Given the description of an element on the screen output the (x, y) to click on. 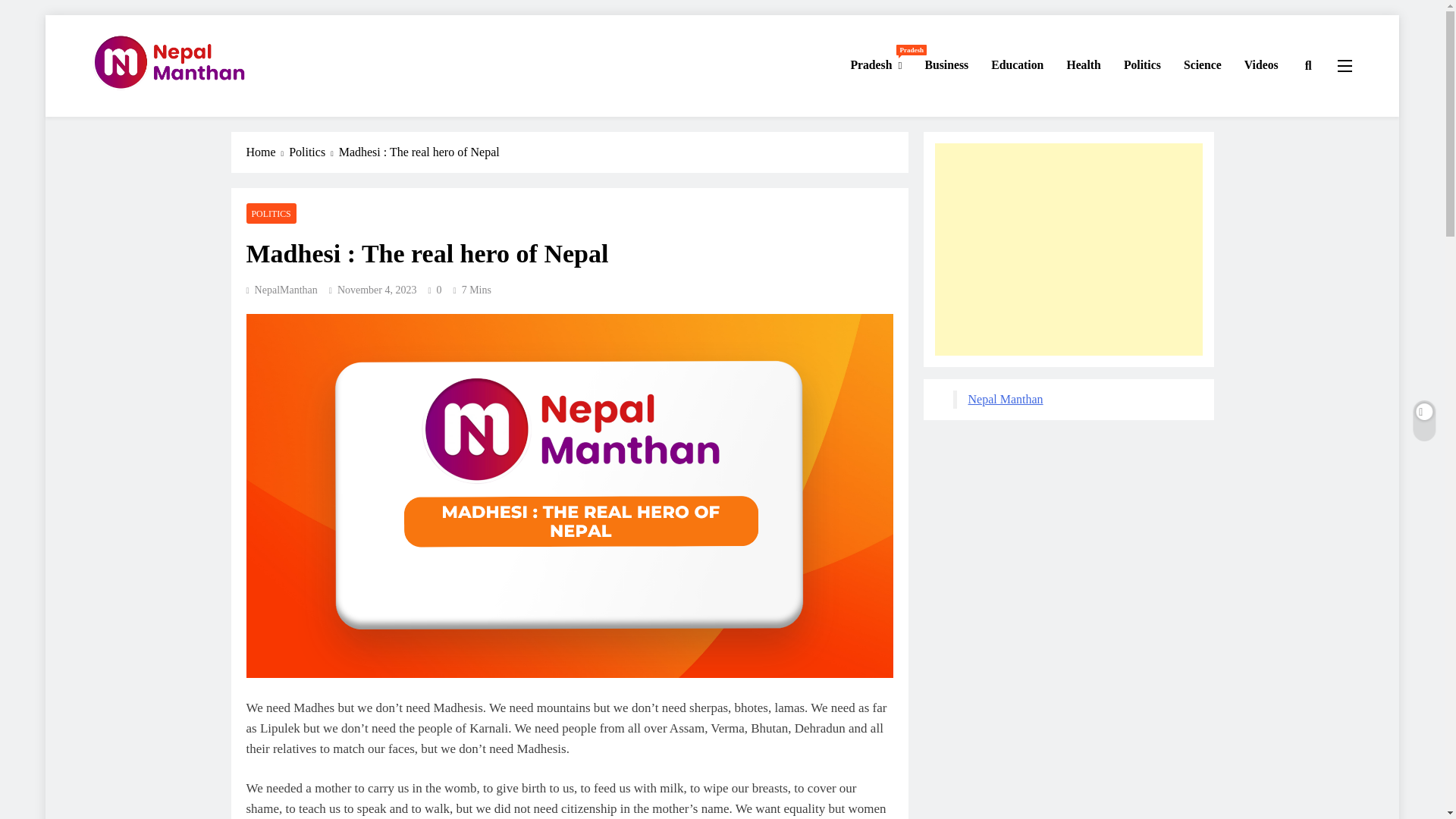
Politics (1142, 65)
Education (1016, 65)
NepalManthan (281, 288)
Health (1083, 65)
Home (267, 151)
POLITICS (270, 213)
Politics (313, 151)
Nepal Manthan (164, 118)
Science (1202, 65)
